Given the description of an element on the screen output the (x, y) to click on. 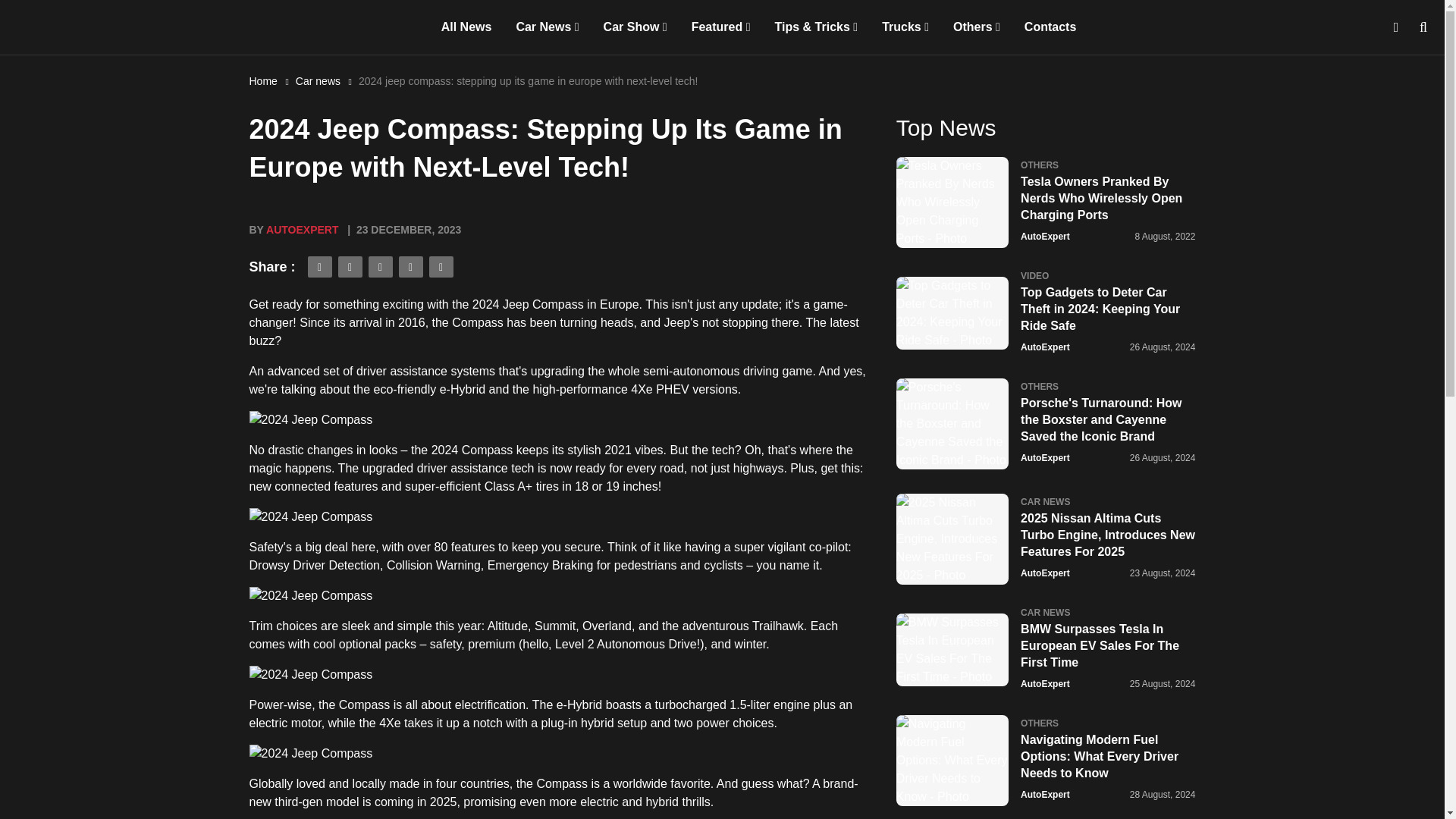
Car Show (635, 27)
Car News (547, 27)
Featured (720, 27)
Trucks (904, 27)
All News (466, 27)
